Given the description of an element on the screen output the (x, y) to click on. 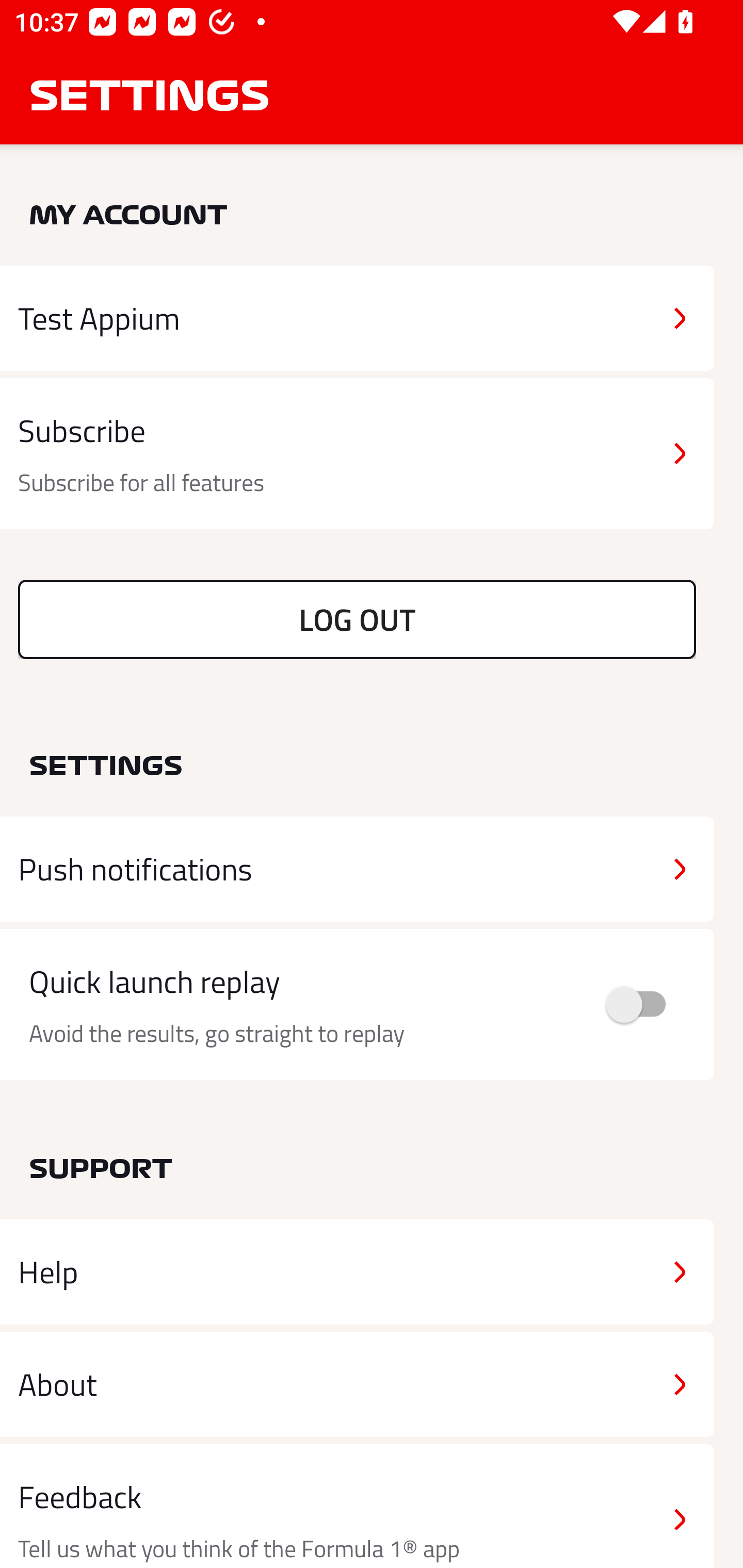
Test Appium (357, 317)
Subscribe Subscribe for all features (357, 453)
LOG OUT (356, 619)
Push notifications (357, 868)
Help (357, 1271)
About (357, 1383)
